Given the description of an element on the screen output the (x, y) to click on. 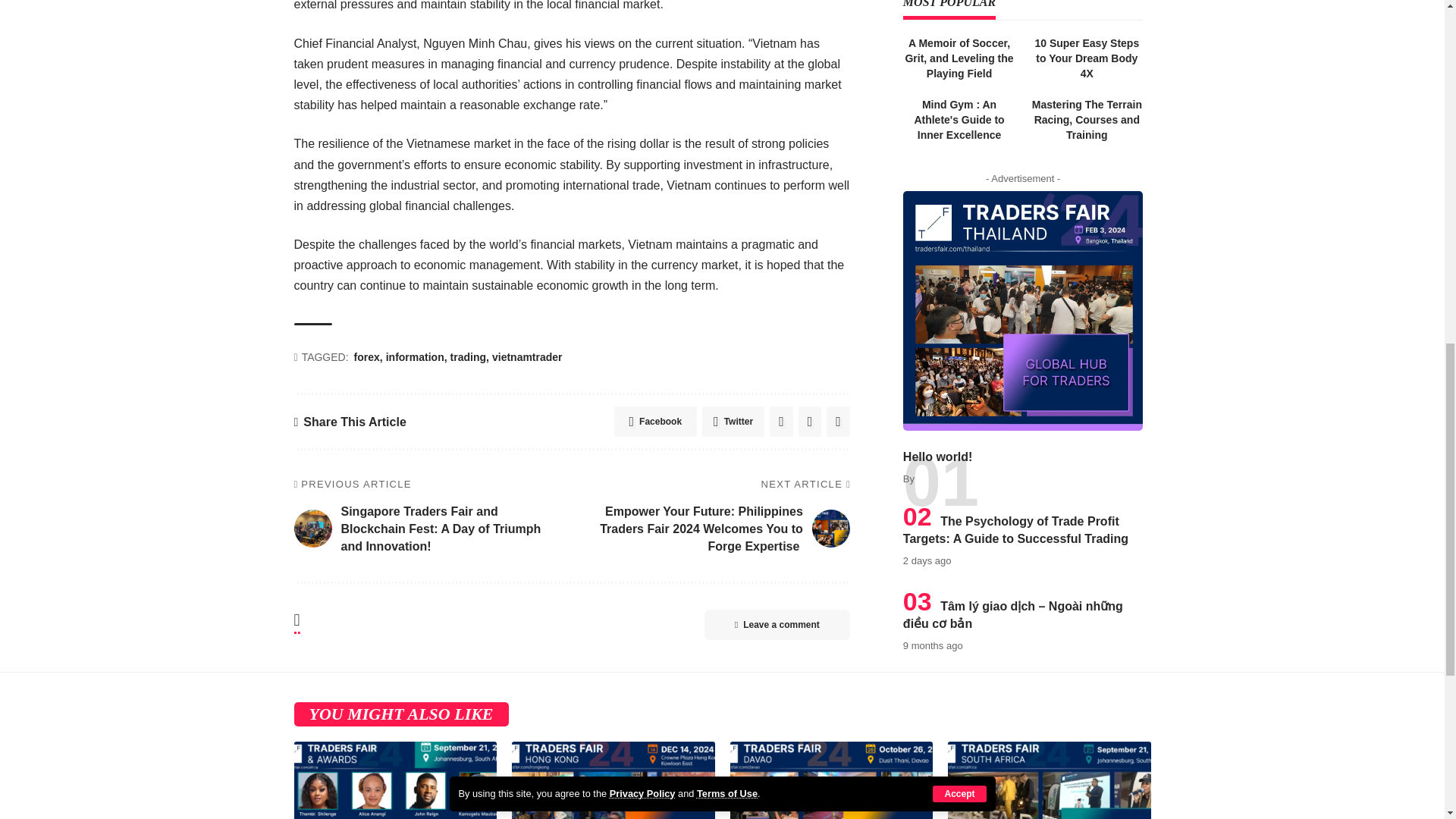
Excitement Builds for the Davao Traders Fair 2024 (831, 780)
Twitter (732, 421)
Facebook (655, 421)
forex (367, 357)
trading (469, 357)
information (415, 357)
vietnamtrader (527, 357)
